Given the description of an element on the screen output the (x, y) to click on. 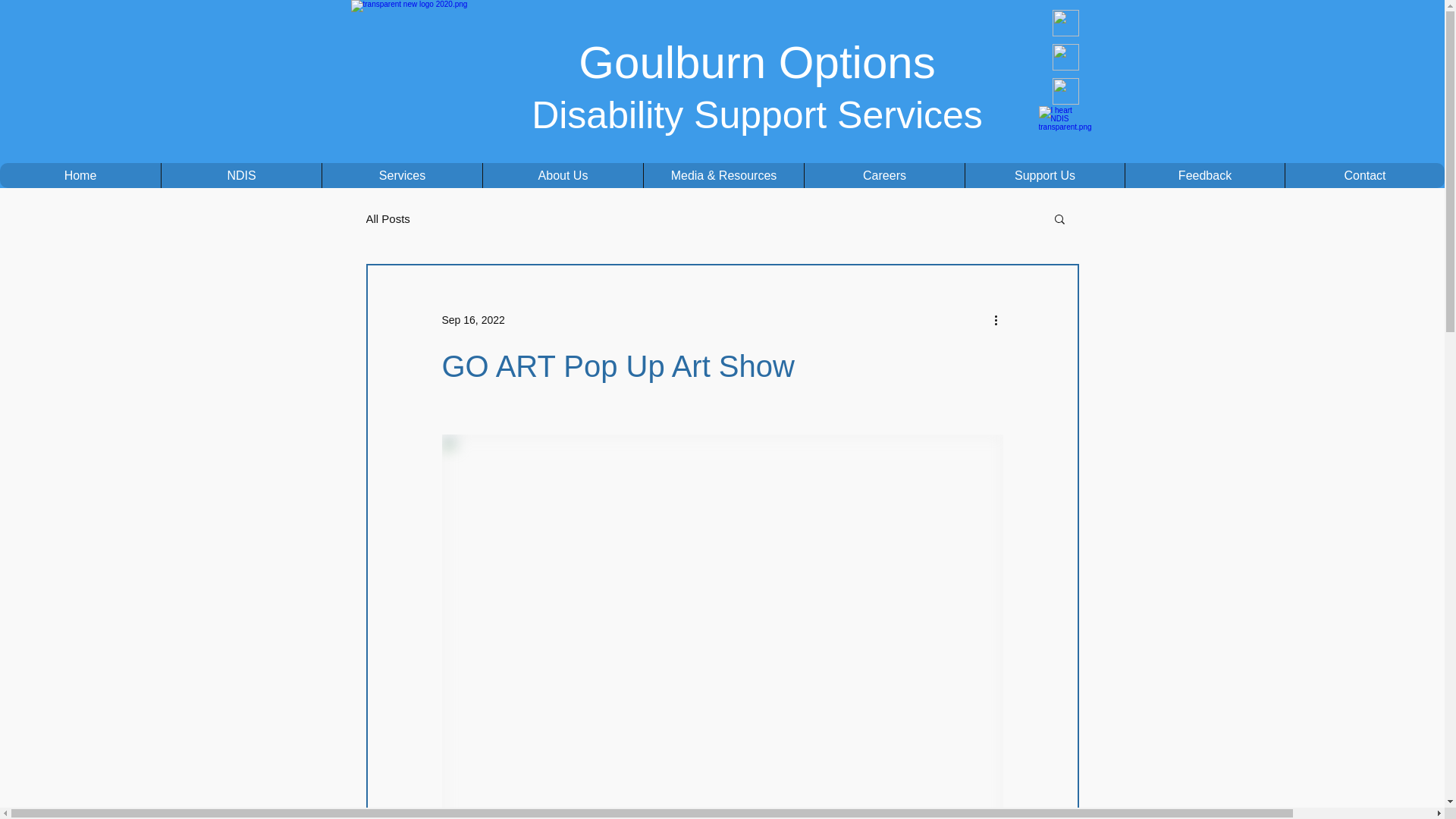
Media & Resources Element type: text (723, 175)
About Us Element type: text (562, 175)
Feedback Element type: text (1204, 175)
NDIS Element type: text (240, 175)
Home Element type: text (80, 175)
All Posts Element type: text (387, 218)
Services Element type: text (401, 175)
Contact Element type: text (1364, 175)
Support Us Element type: text (1044, 175)
Careers Element type: text (883, 175)
